Given the description of an element on the screen output the (x, y) to click on. 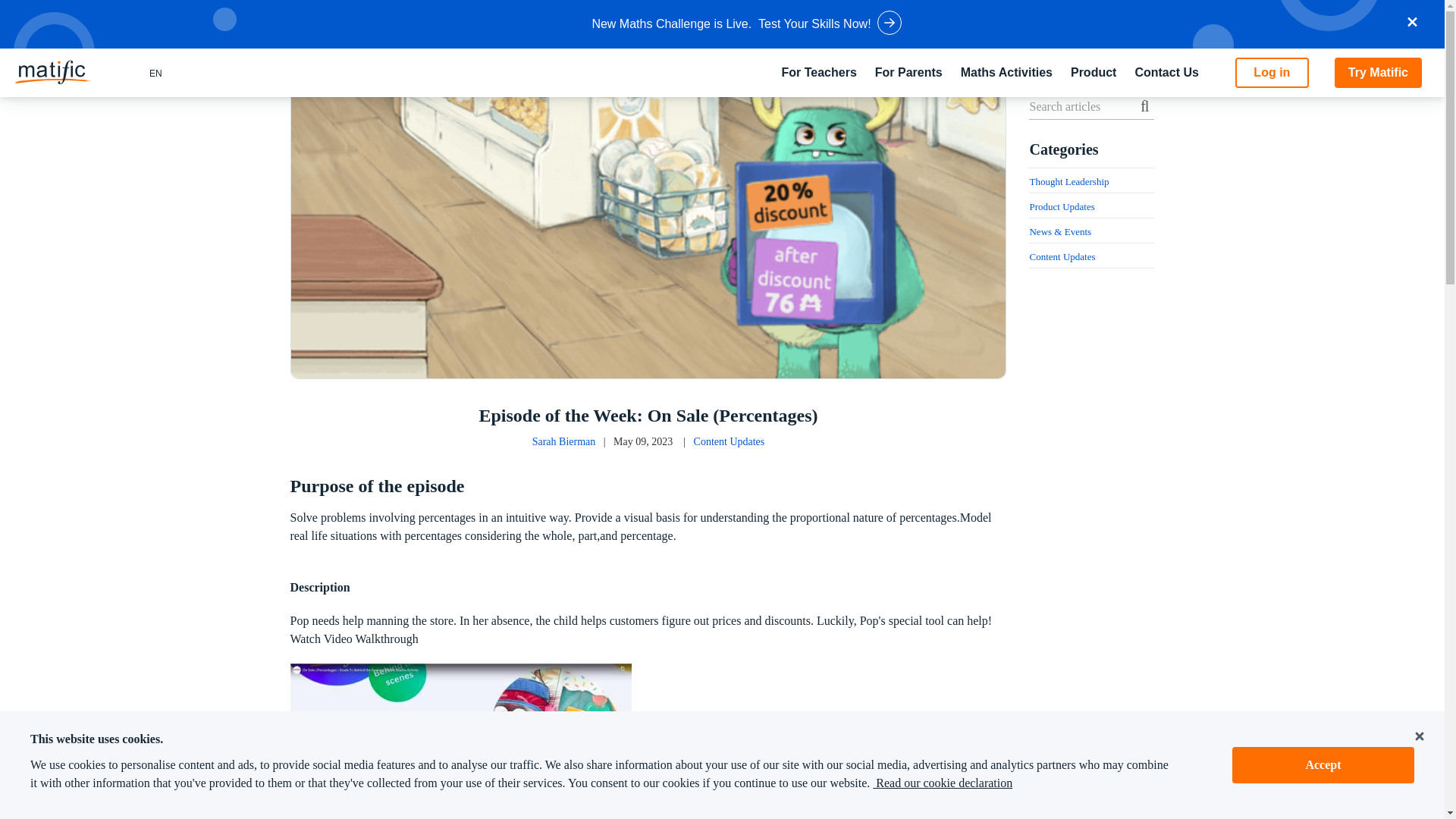
Test Your Skills Now! (814, 23)
Accept (1322, 764)
Read our cookie declaration (941, 782)
For Parents (908, 72)
Maths Activities (1006, 72)
logo (52, 71)
For Teachers (819, 72)
